Given the description of an element on the screen output the (x, y) to click on. 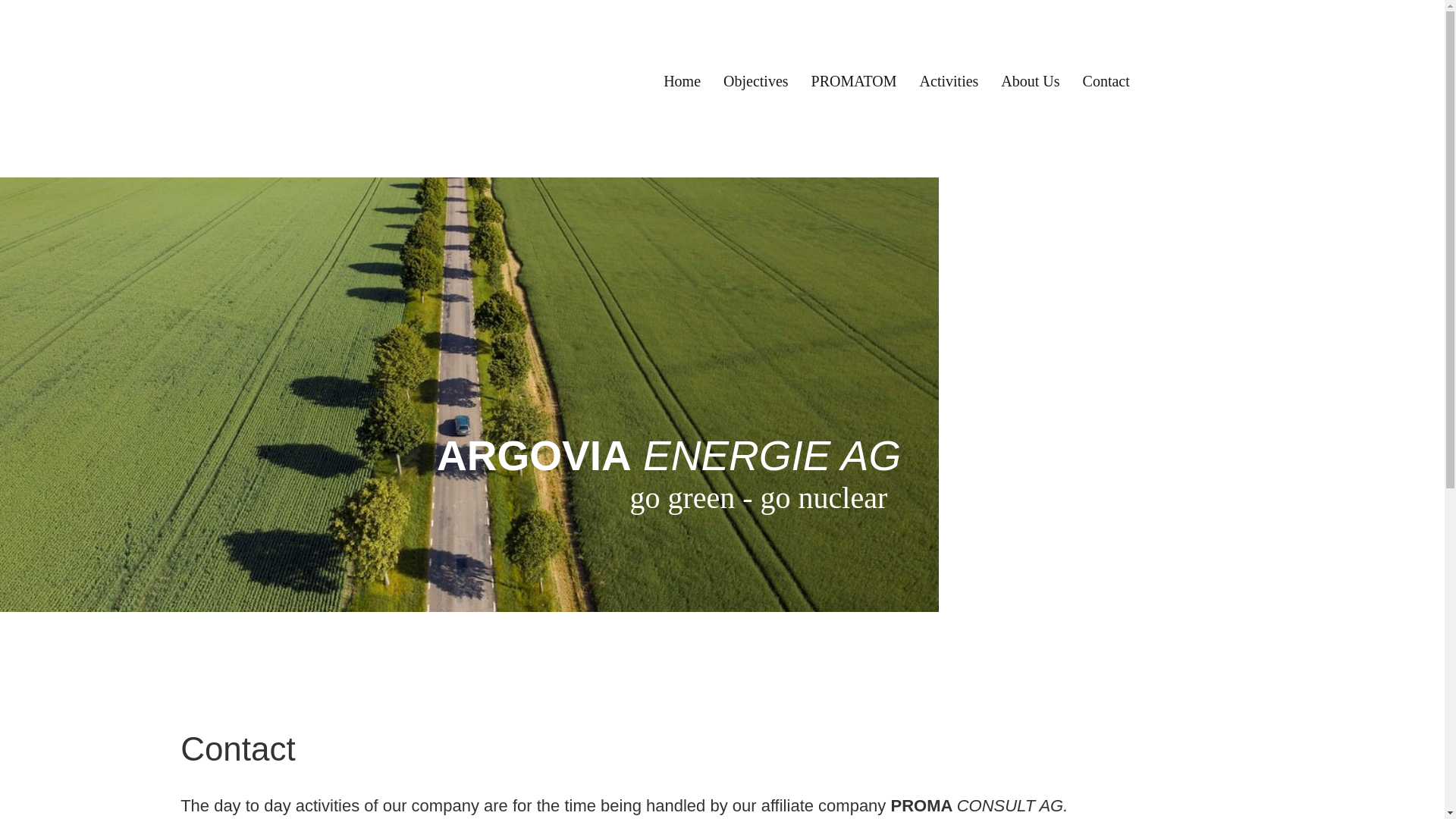
PROMATOM Element type: text (854, 80)
Contact Element type: text (1105, 80)
About Us Element type: text (1030, 80)
Home Element type: text (681, 80)
Objectives Element type: text (755, 80)
Activities Element type: text (949, 80)
